Given the description of an element on the screen output the (x, y) to click on. 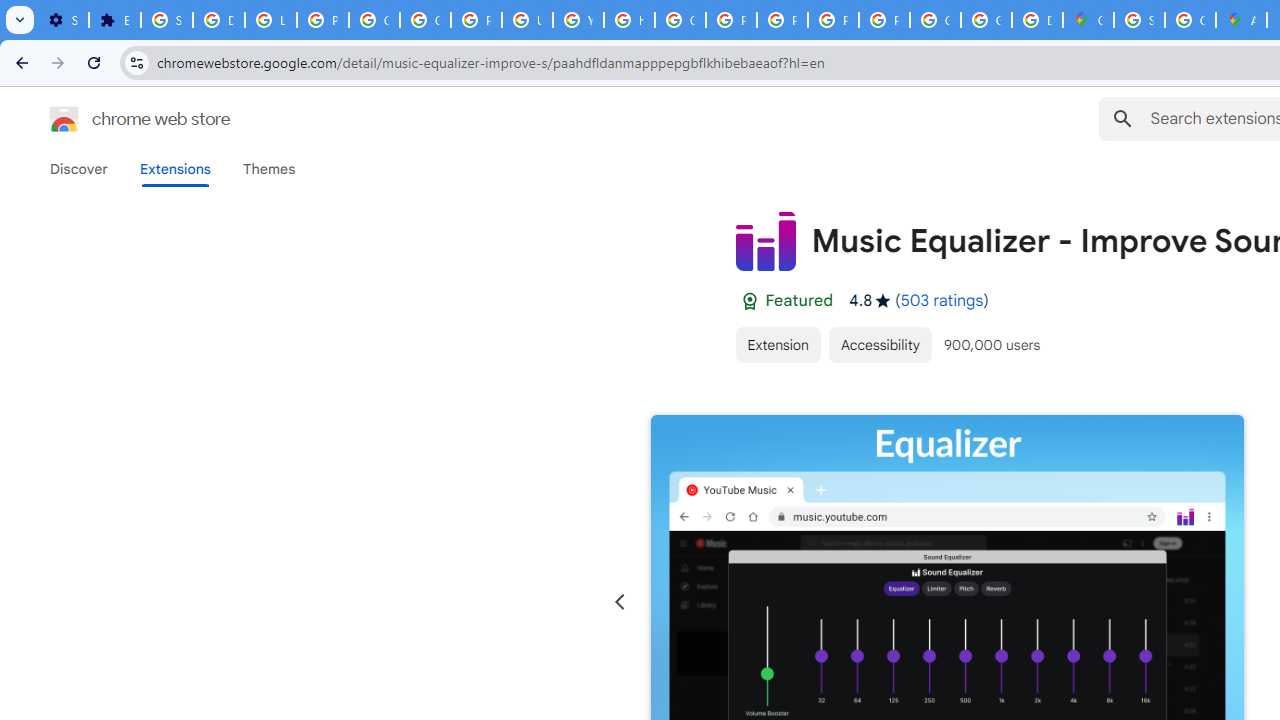
Chrome Web Store logo (63, 118)
Chrome Web Store logo chrome web store (118, 118)
Themes (269, 169)
Delete photos & videos - Computer - Google Photos Help (218, 20)
503 ratings (941, 300)
Featured Badge (749, 301)
Google Maps (1087, 20)
Back (19, 62)
Sign in - Google Accounts (166, 20)
https://scholar.google.com/ (629, 20)
